Given the description of an element on the screen output the (x, y) to click on. 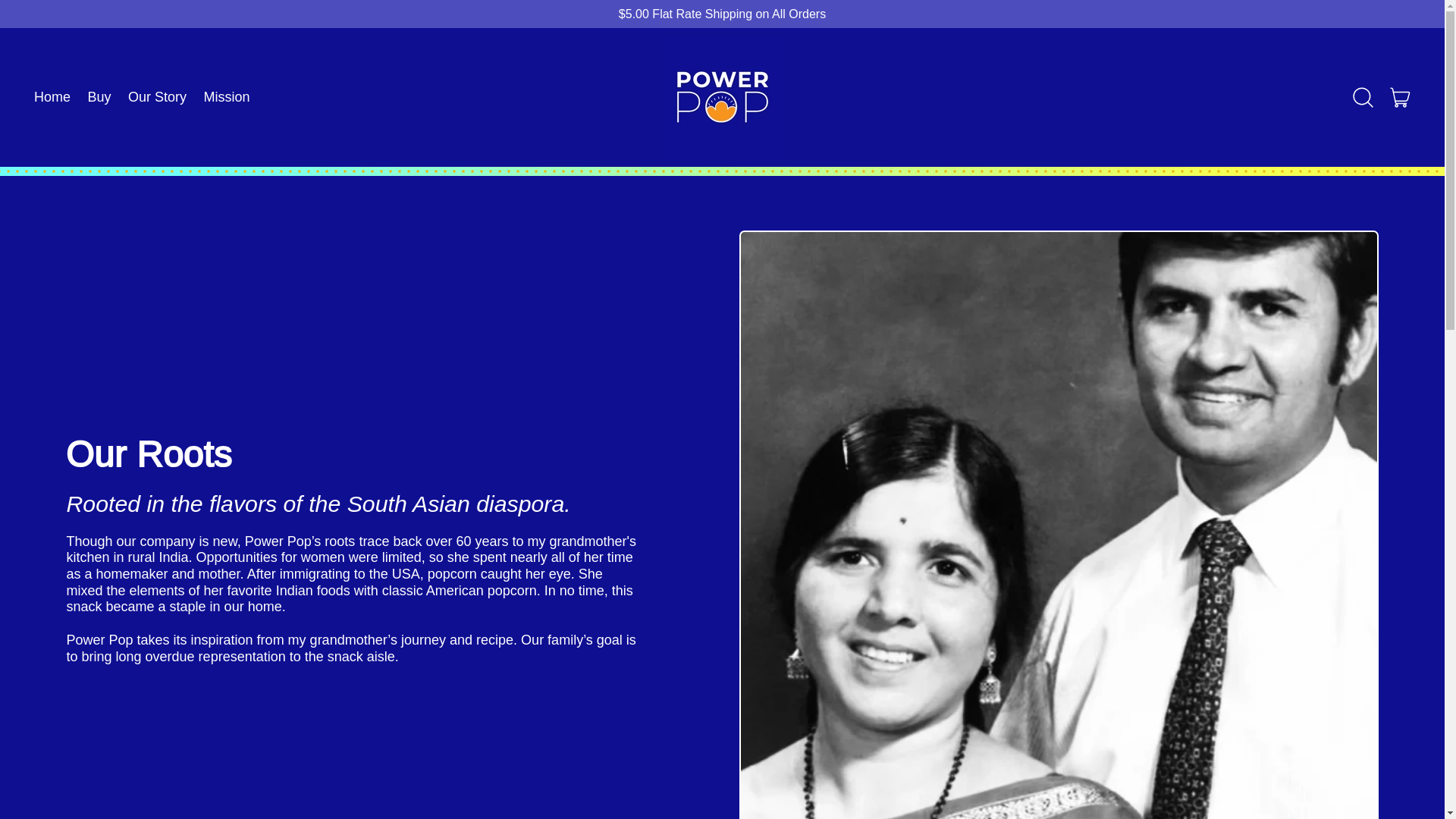
Search our site (1362, 96)
Our Story (157, 97)
Mission (227, 97)
Home (1400, 96)
